Given the description of an element on the screen output the (x, y) to click on. 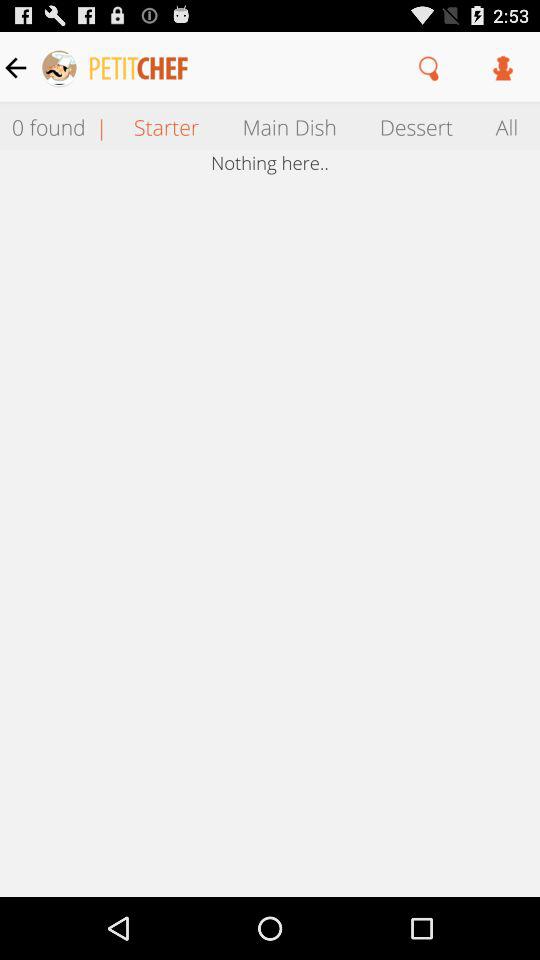
flip until the starter icon (166, 126)
